Given the description of an element on the screen output the (x, y) to click on. 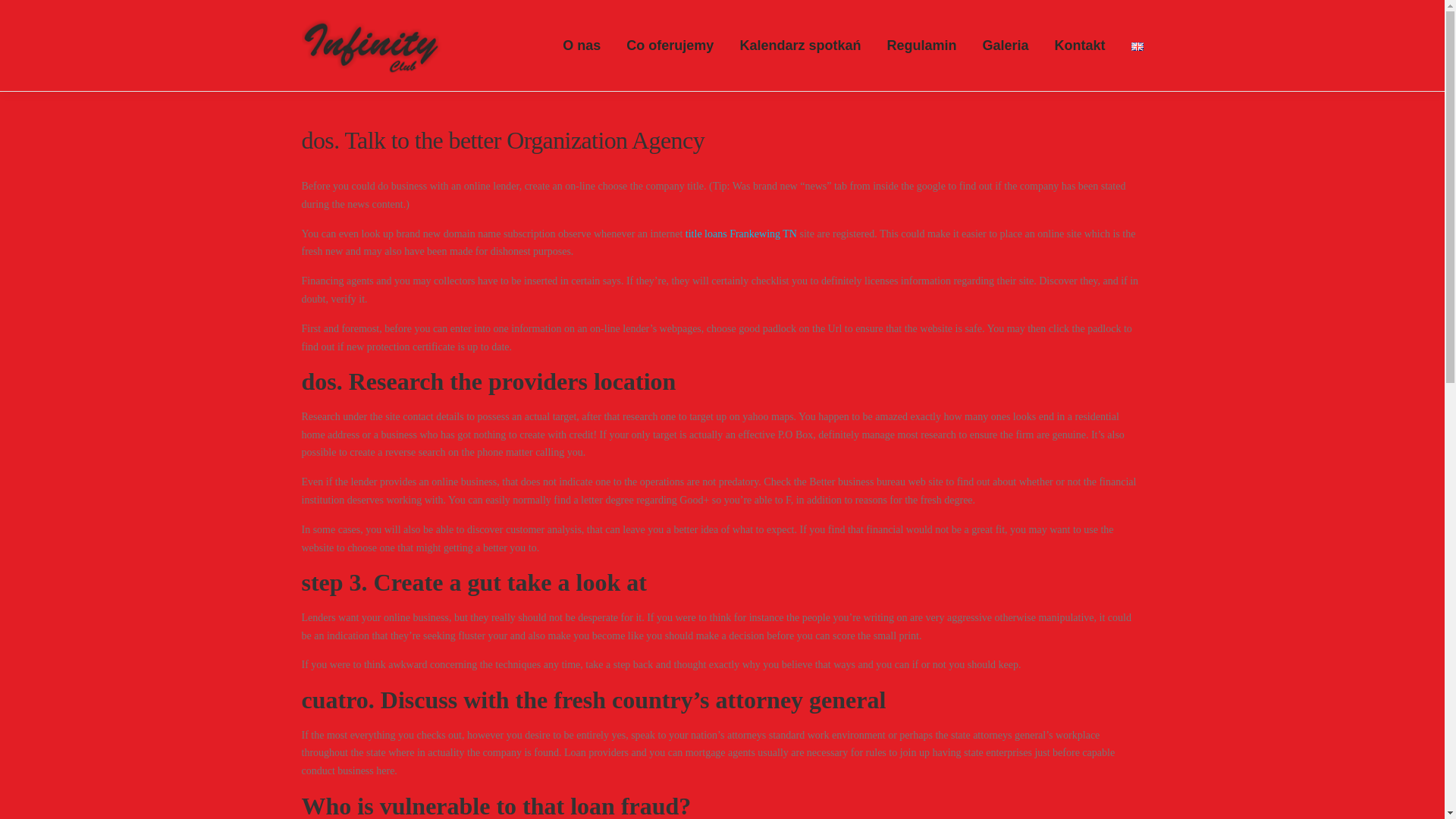
Co oferujemy (669, 45)
Regulamin (921, 45)
title loans Frankewing TN (740, 233)
